Given the description of an element on the screen output the (x, y) to click on. 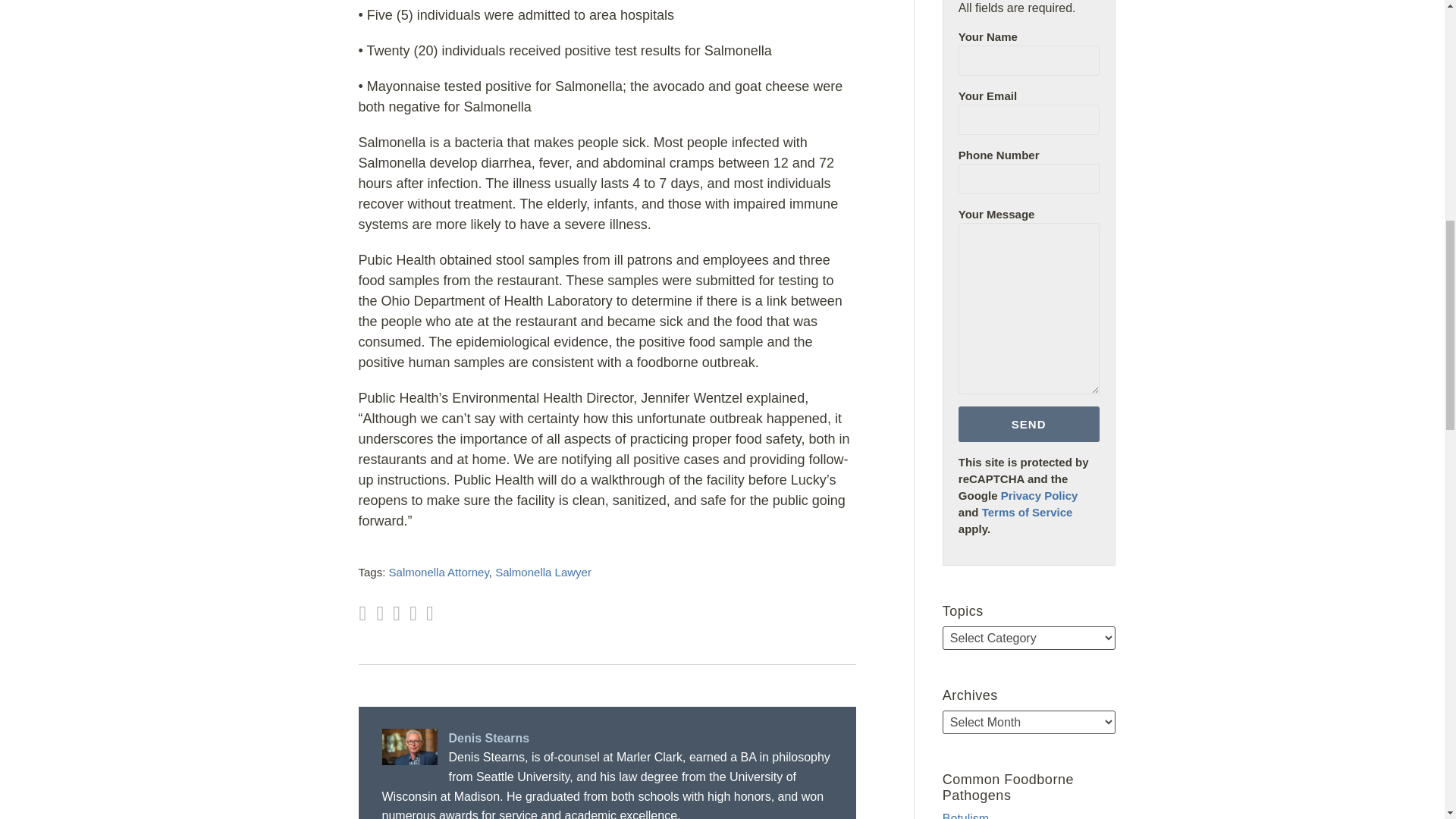
Salmonella Lawyer (543, 571)
Send (1028, 424)
Denis Stearns (606, 738)
Salmonella Attorney (438, 571)
